Given the description of an element on the screen output the (x, y) to click on. 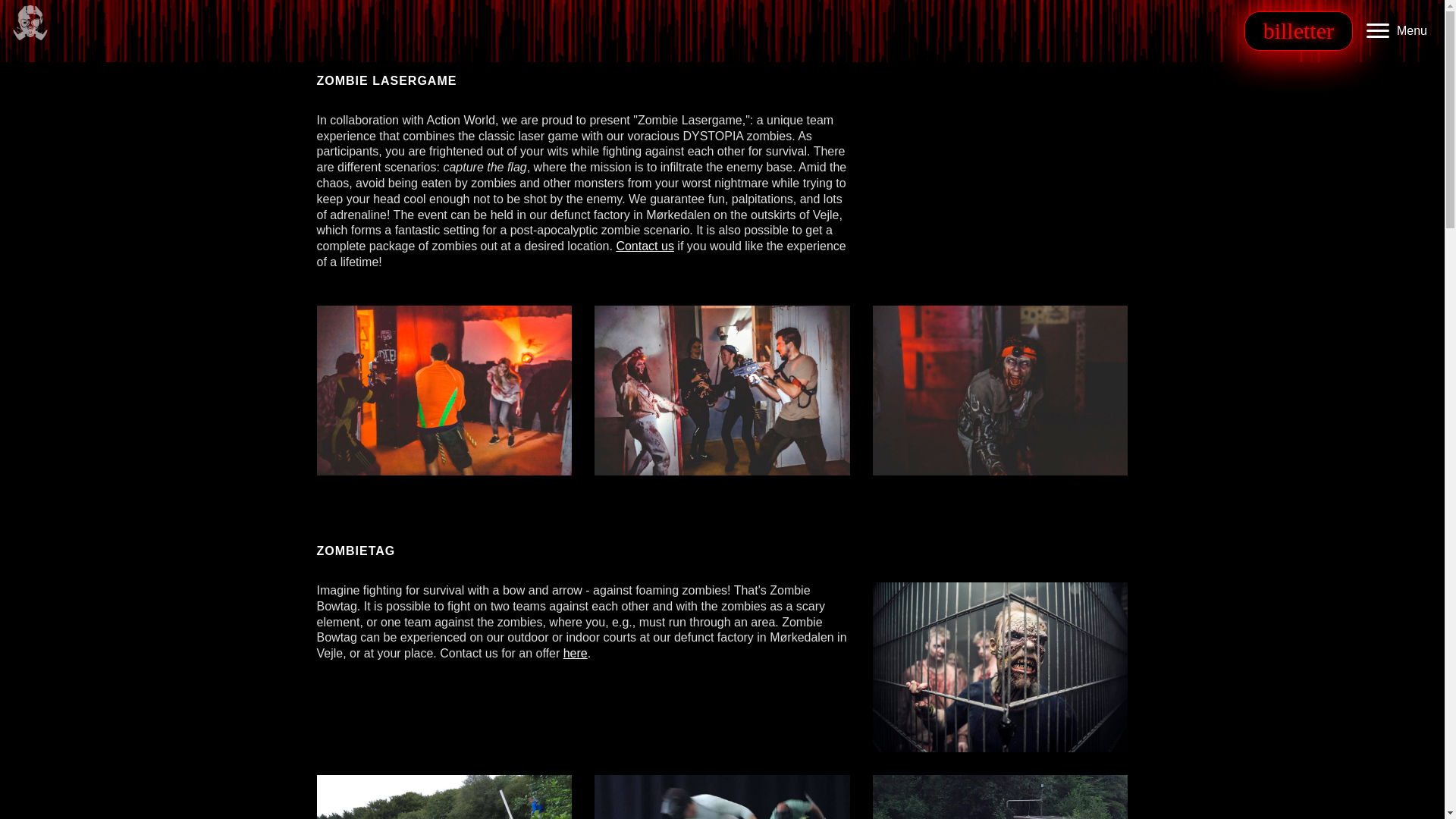
Lasergame Zombiehunt hos Dystopia - Zombie Town (1000, 191)
Menu (1395, 31)
billetter (1298, 30)
Dystopia - Logo (30, 22)
DYSTOPIA Haunted House 2017 - The EXPERIMENT (1000, 667)
Zombie Lasergame (722, 390)
here (575, 653)
Contact us (643, 245)
Zombie Lasergame (444, 390)
Zombie Bowtag (444, 796)
Zombie Bowtag (722, 796)
Zombie Bowtag (1000, 796)
Zombie Lasergame (1000, 390)
